Given the description of an element on the screen output the (x, y) to click on. 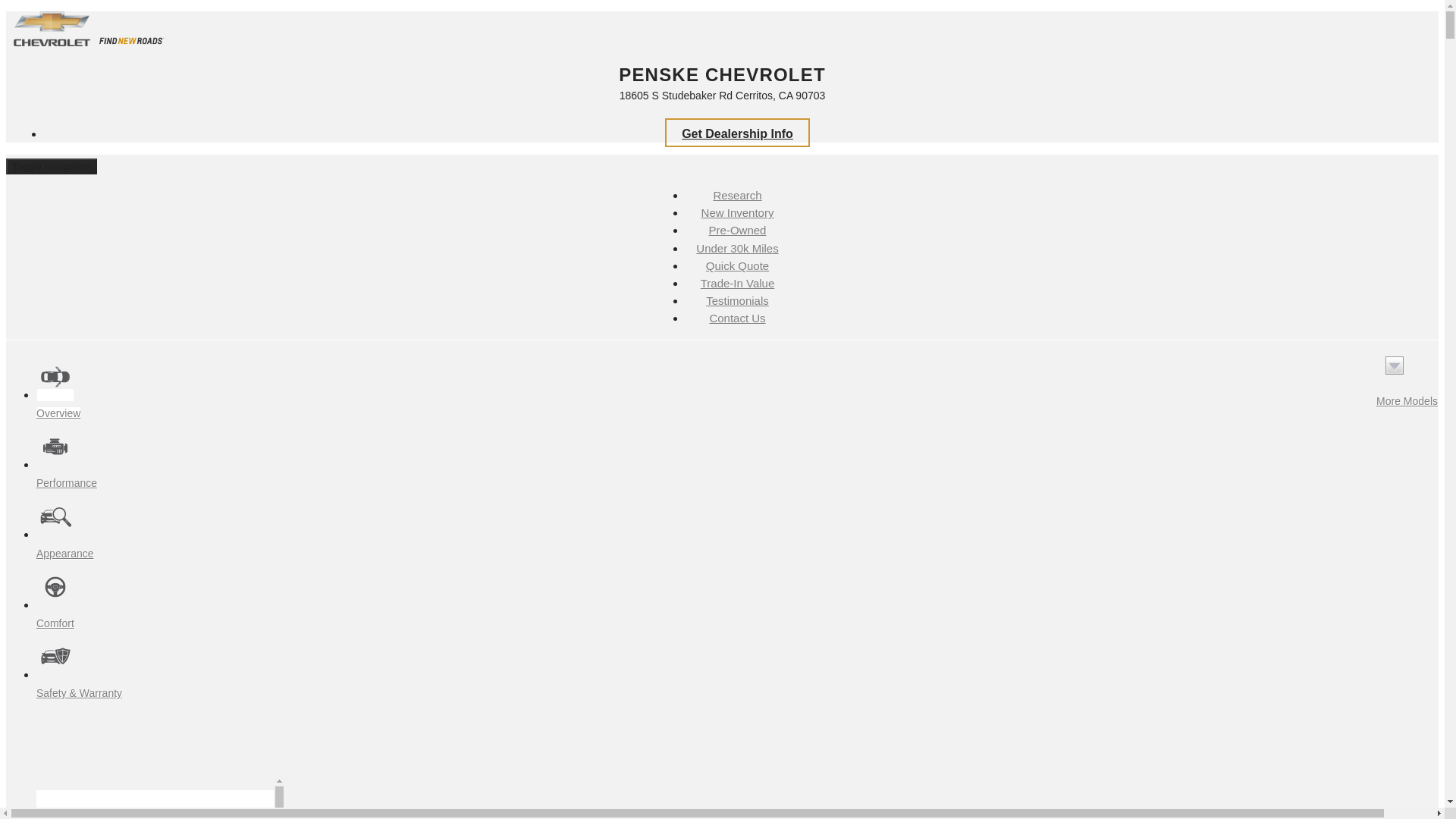
Get Dealership Info (737, 132)
Testimonials (736, 301)
Toggle navigation (51, 166)
New Inventory (737, 214)
Pre-Owned (737, 231)
2025 EQUINOX (155, 804)
Overview (58, 404)
Trade-In Value (738, 284)
Under 30k Miles (737, 249)
Performance (66, 473)
Research (736, 195)
Contact Us (737, 318)
Quick Quote (736, 266)
Appearance (65, 543)
Comfort (55, 613)
